Given the description of an element on the screen output the (x, y) to click on. 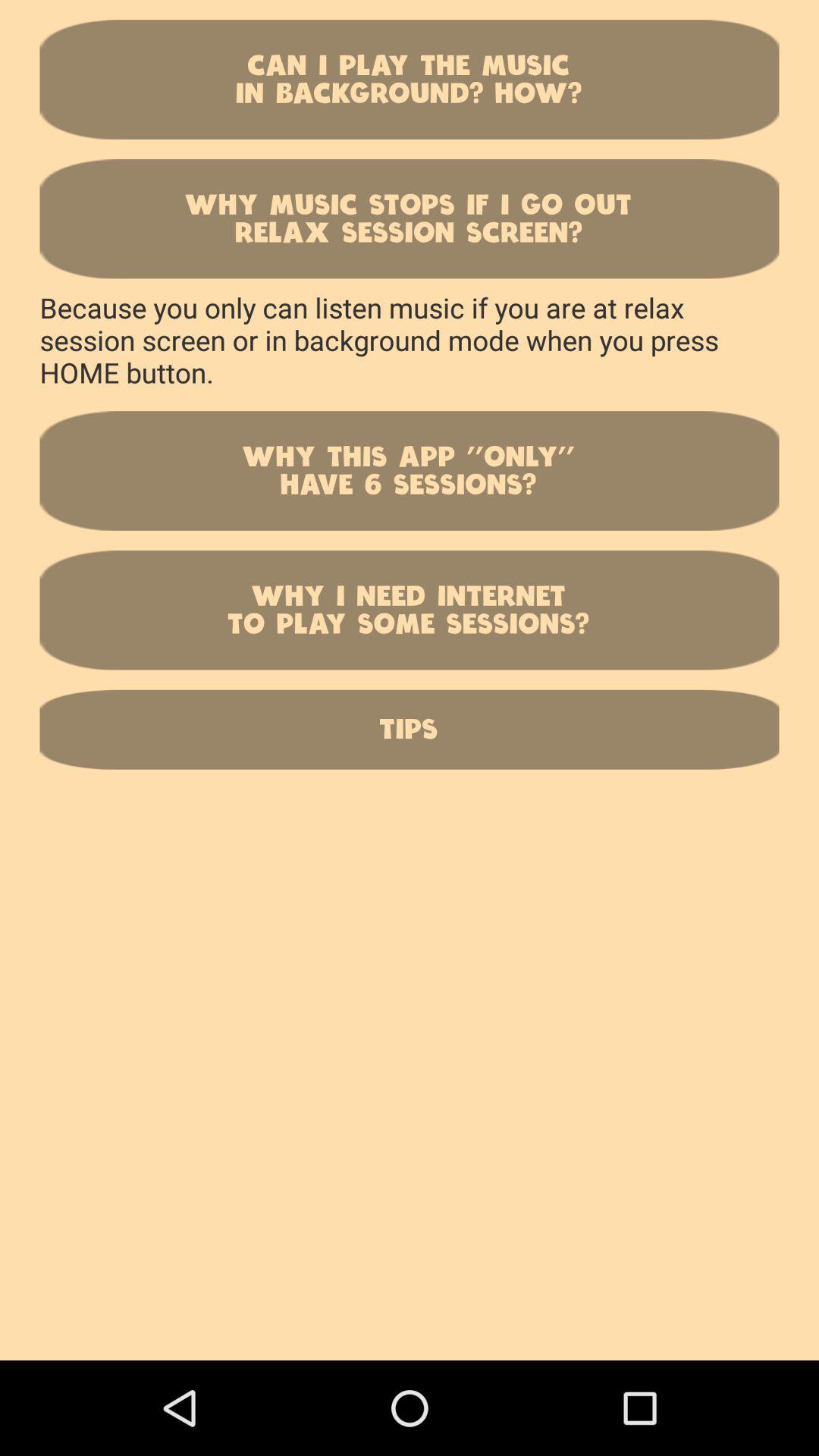
press the app below because you only item (409, 470)
